Given the description of an element on the screen output the (x, y) to click on. 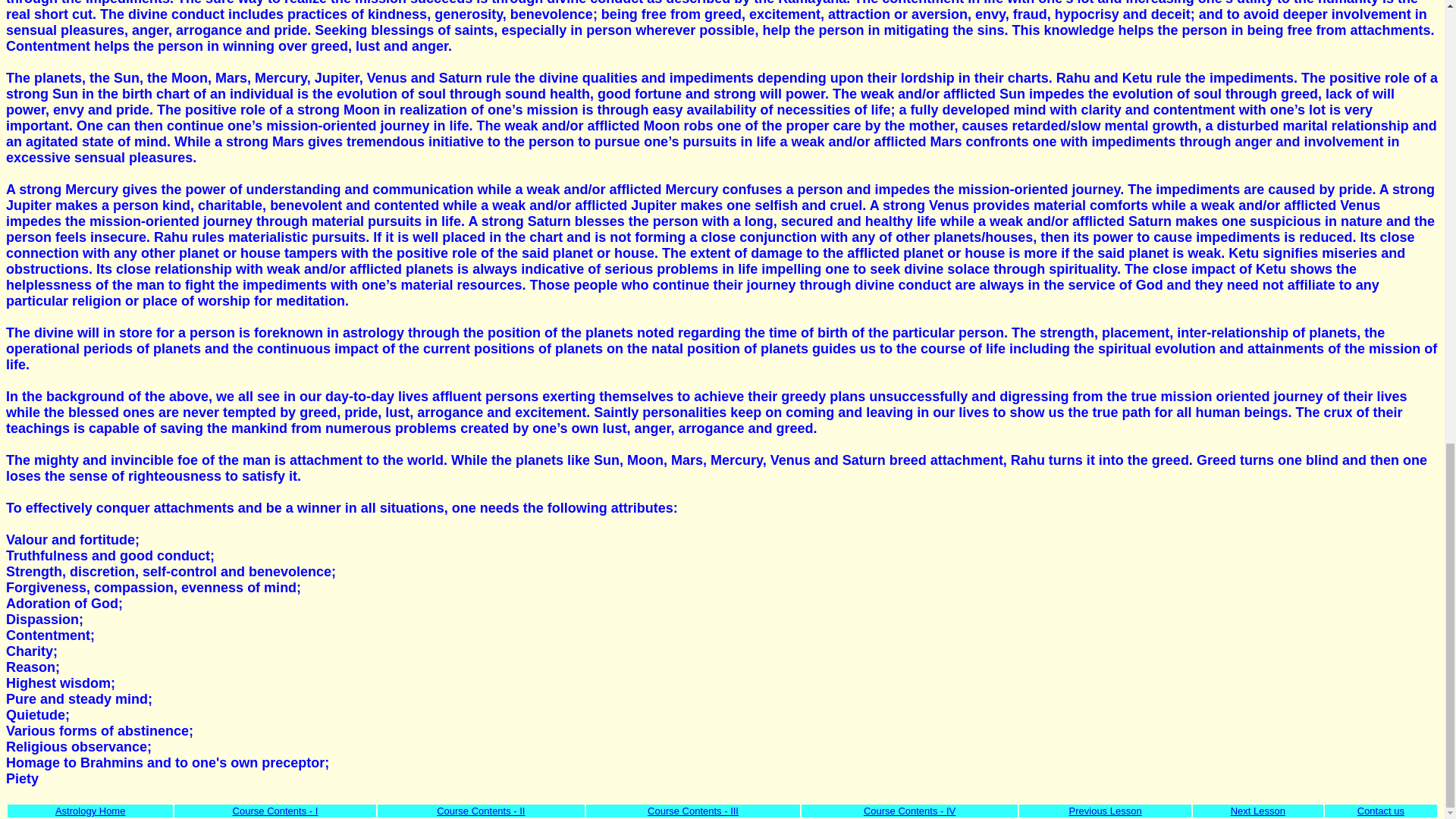
Course Contents - I (275, 810)
Course Contents - III (692, 810)
Contact us (1380, 810)
Course Contents - IV (909, 810)
Course Contents - II (480, 810)
Next Lesson (1257, 810)
Previous Lesson (1104, 810)
Astrology Home (90, 810)
